Given the description of an element on the screen output the (x, y) to click on. 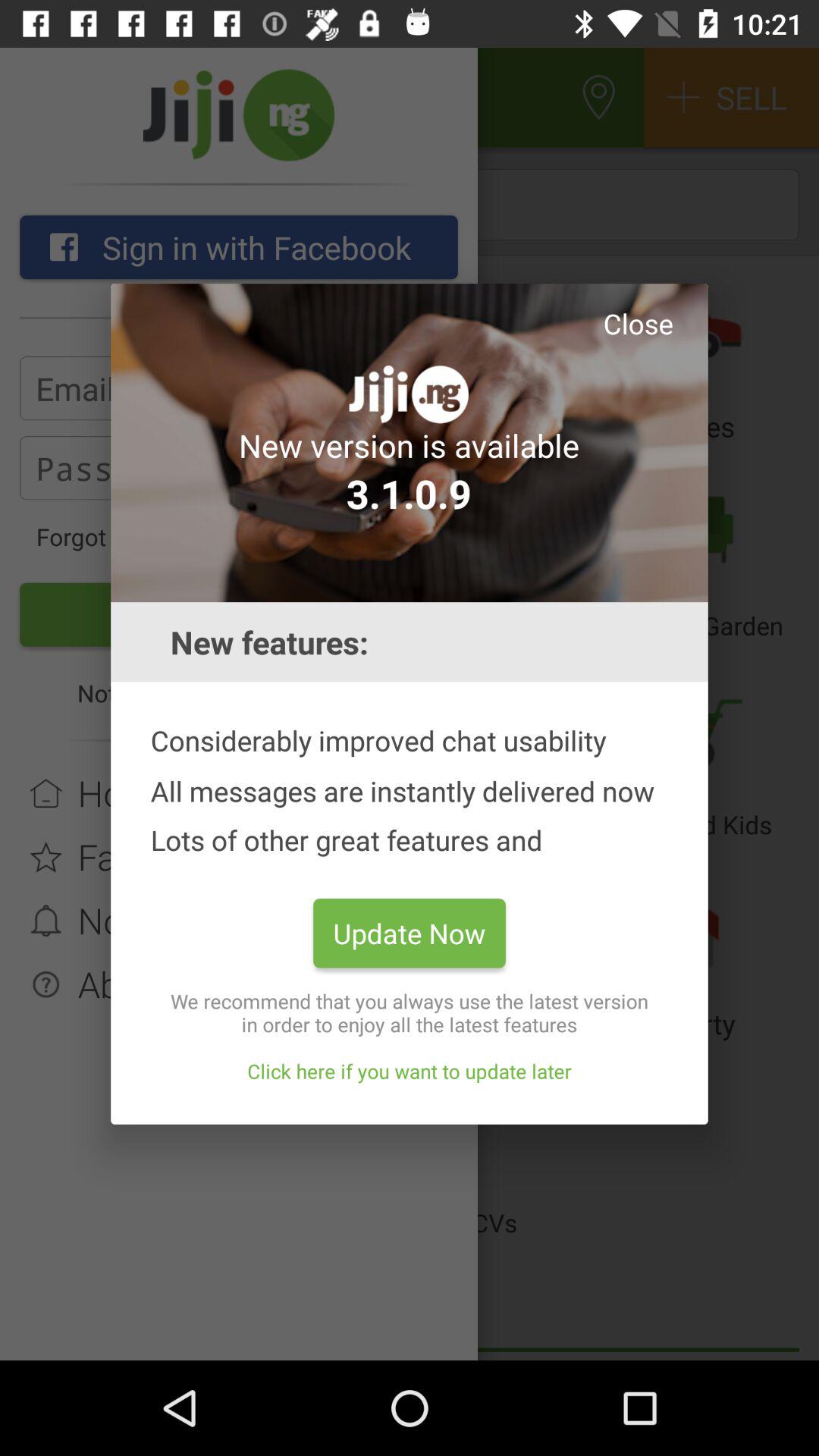
swipe until close app (638, 323)
